Given the description of an element on the screen output the (x, y) to click on. 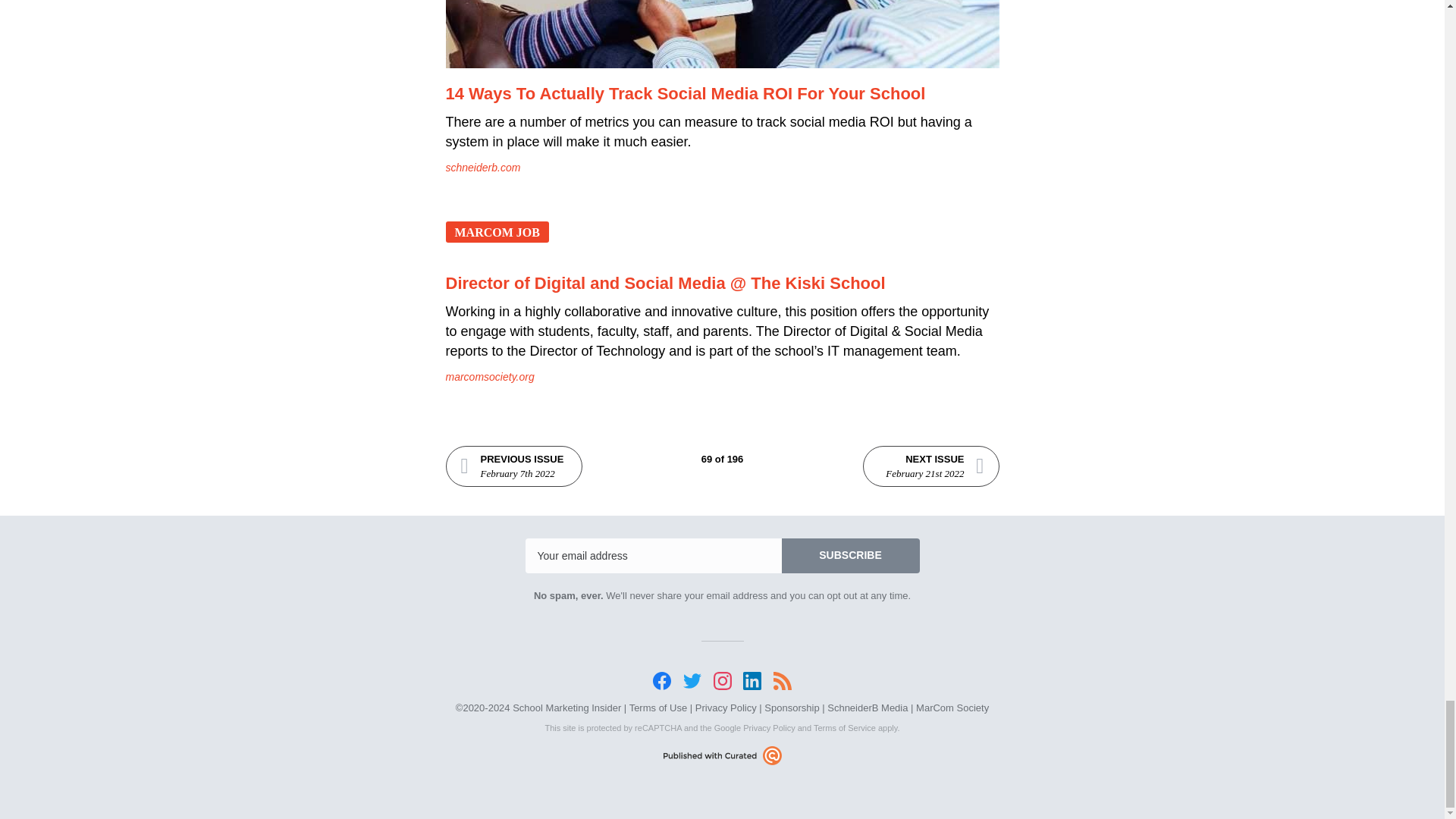
Instagram icon (721, 680)
14 Ways To Actually Track Social Media ROI For Your School (721, 34)
RSS icon (782, 680)
LinkedIn icon (751, 680)
Twitter icon (691, 680)
Facebook icon (661, 680)
